Given the description of an element on the screen output the (x, y) to click on. 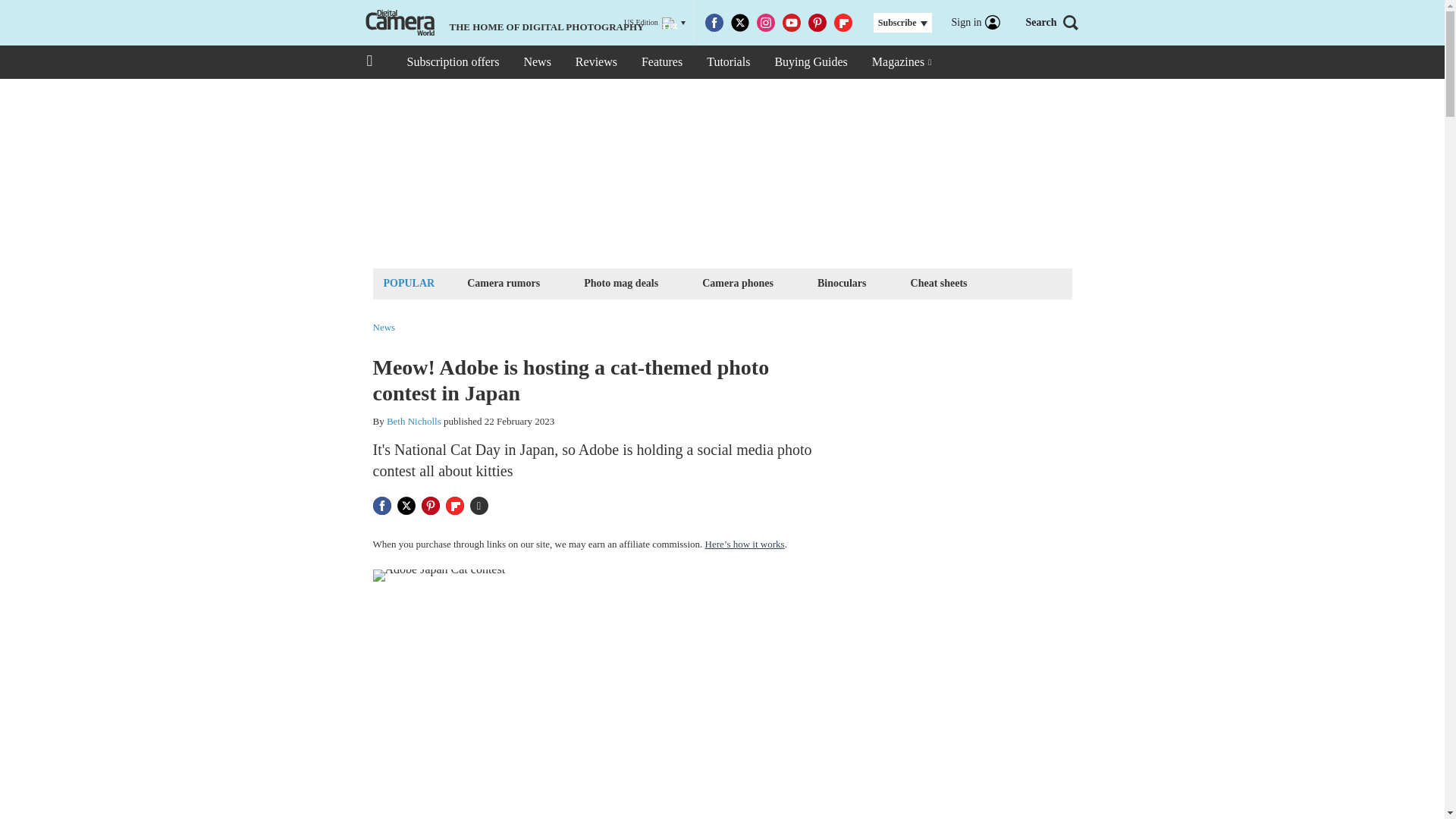
Binoculars (842, 282)
News (536, 61)
THE HOME OF DIGITAL PHOTOGRAPHY (503, 22)
Buying Guides (810, 61)
Reviews (595, 61)
Subscription offers (452, 61)
Features (661, 61)
Cheat sheets (938, 282)
US Edition (654, 22)
Camera rumors (502, 282)
